Given the description of an element on the screen output the (x, y) to click on. 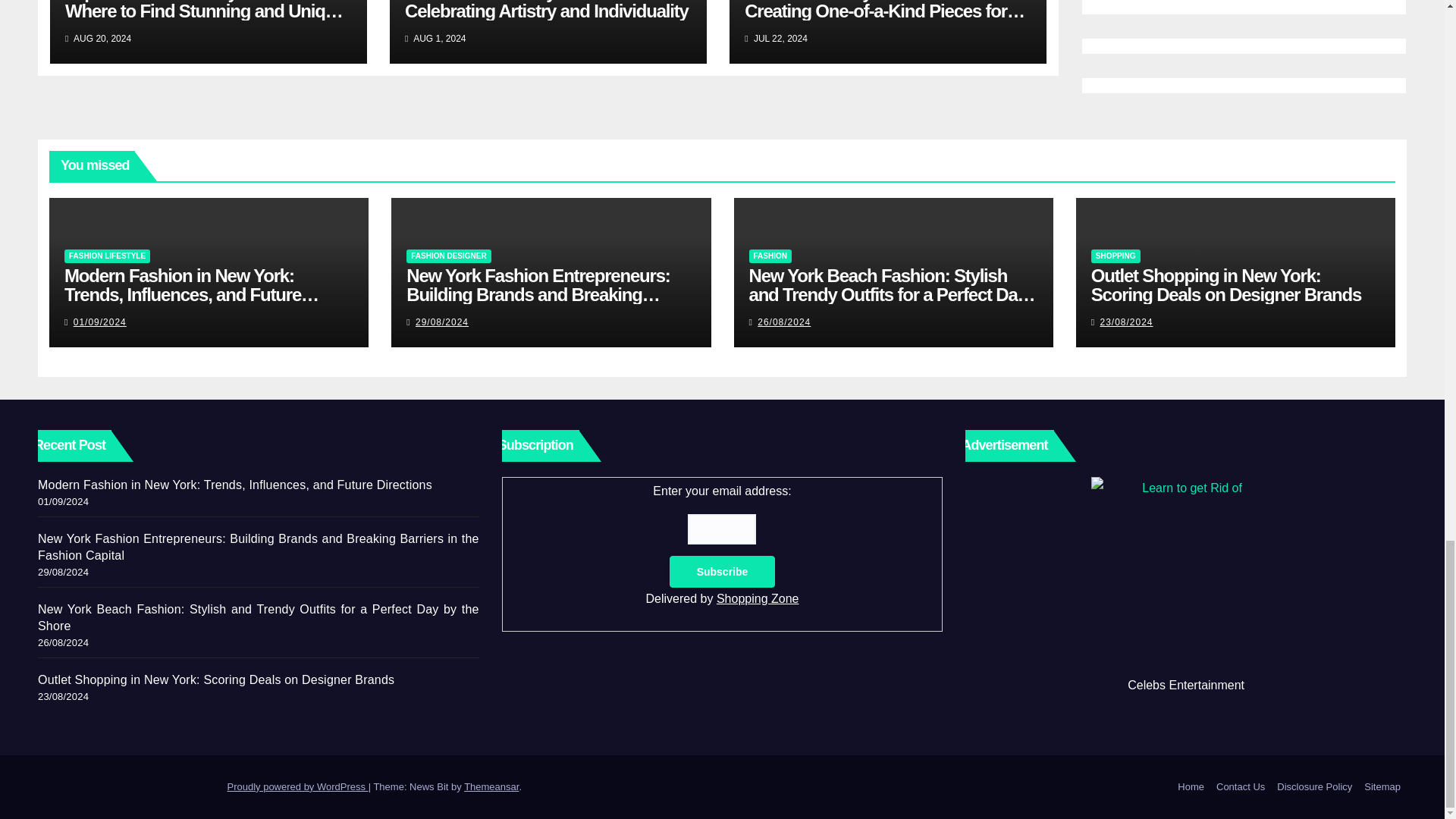
Subscribe (722, 572)
